Given the description of an element on the screen output the (x, y) to click on. 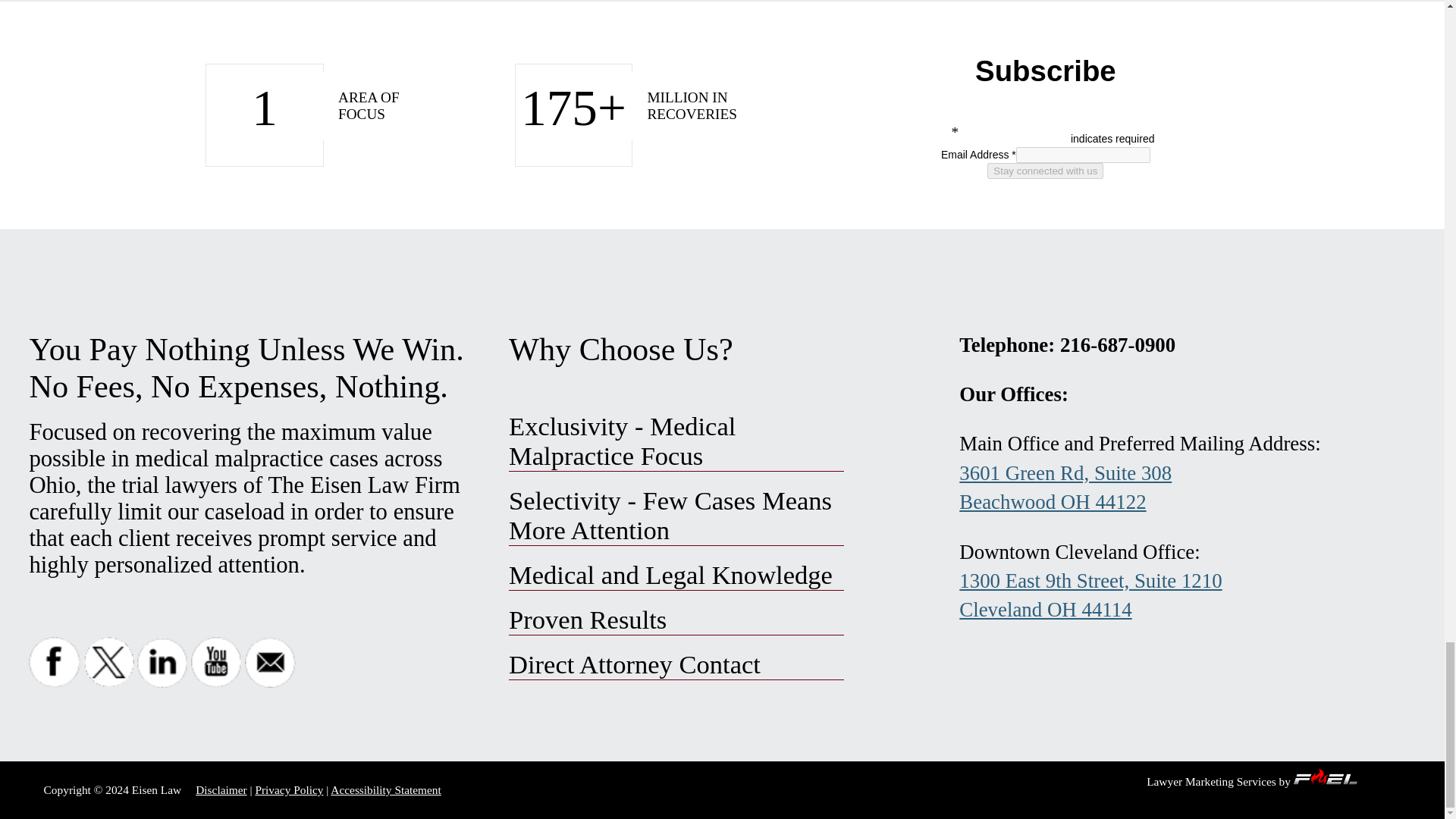
Stay connected with us (1045, 170)
